Given the description of an element on the screen output the (x, y) to click on. 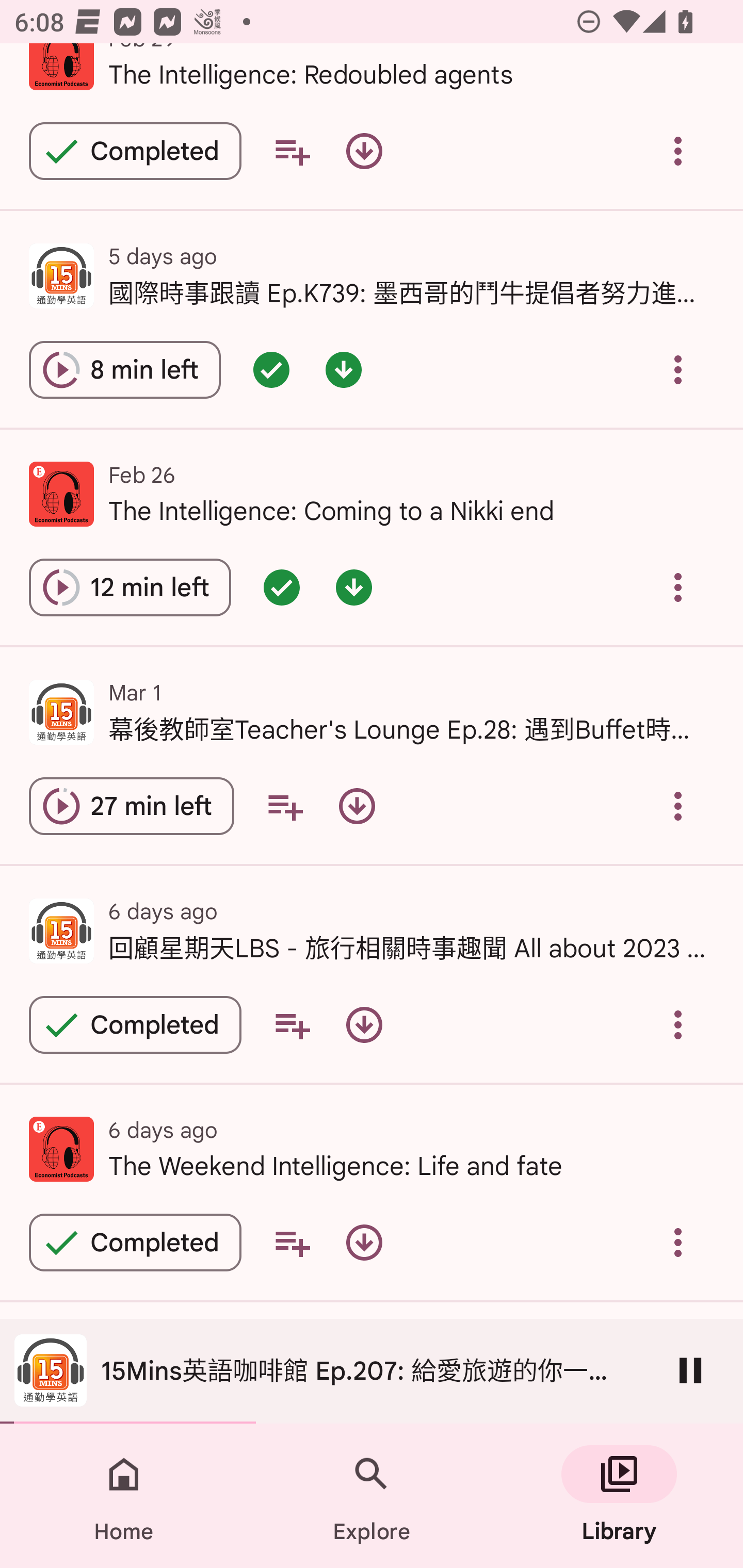
Add to your queue (291, 151)
Download episode (364, 151)
Overflow menu (677, 151)
Episode queued - double tap for options (271, 369)
Episode downloaded - double tap for options (343, 369)
Overflow menu (677, 369)
Episode queued - double tap for options (281, 587)
Episode downloaded - double tap for options (354, 587)
Overflow menu (677, 587)
Add to your queue (284, 806)
Download episode (356, 806)
Overflow menu (677, 806)
Add to your queue (291, 1024)
Download episode (364, 1024)
Overflow menu (677, 1024)
Add to your queue (291, 1242)
Download episode (364, 1242)
Overflow menu (677, 1242)
Pause (690, 1370)
Home (123, 1495)
Explore (371, 1495)
